Given the description of an element on the screen output the (x, y) to click on. 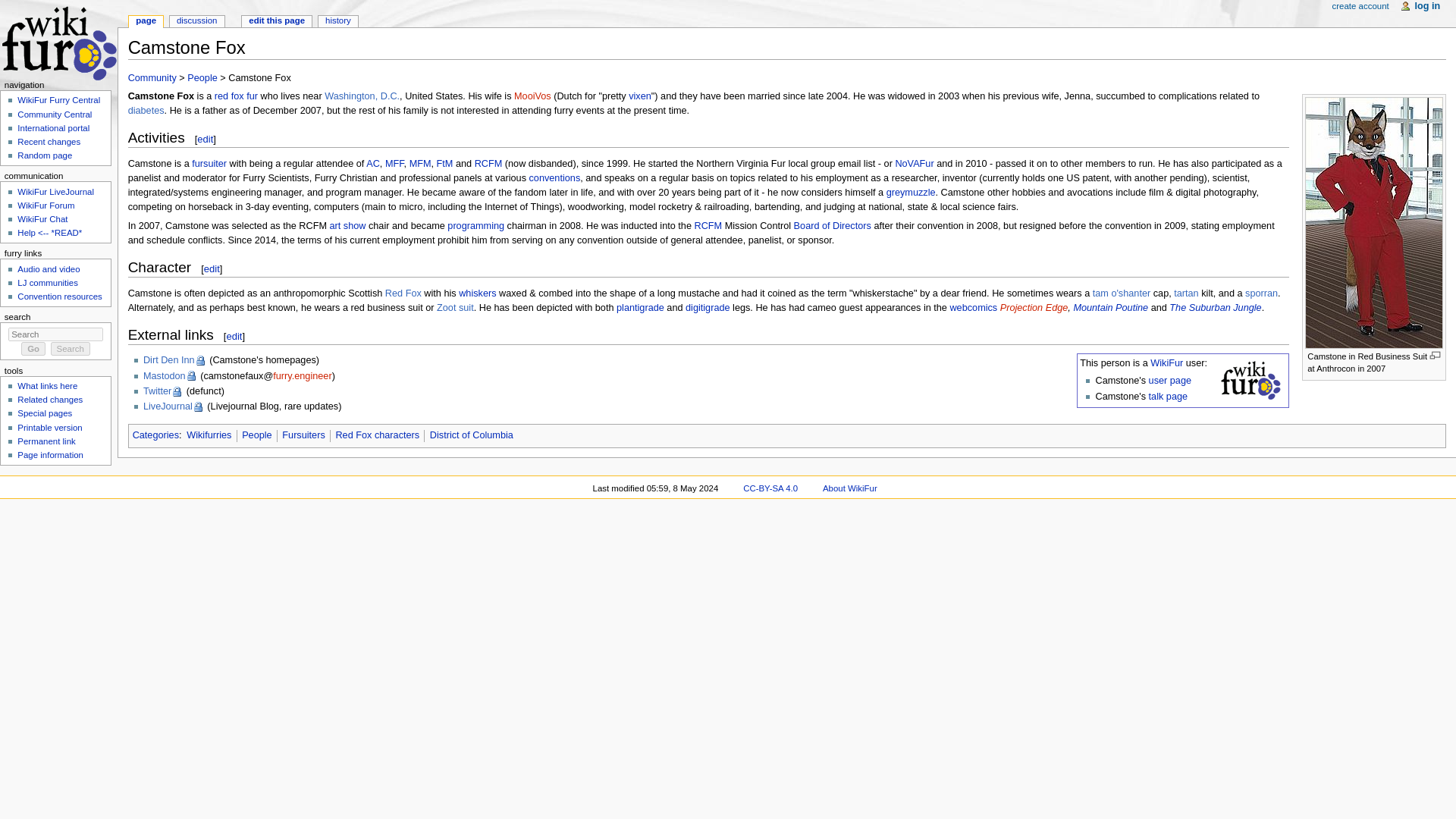
Fur (251, 95)
tam o'shanter (1121, 293)
Community (152, 77)
Enlarge (1435, 355)
The Suburban Jungle (1214, 307)
wikipedia:Washington, D.C. (361, 95)
diabetes (146, 110)
Go (33, 348)
conventions (554, 177)
Convention (554, 177)
